Given the description of an element on the screen output the (x, y) to click on. 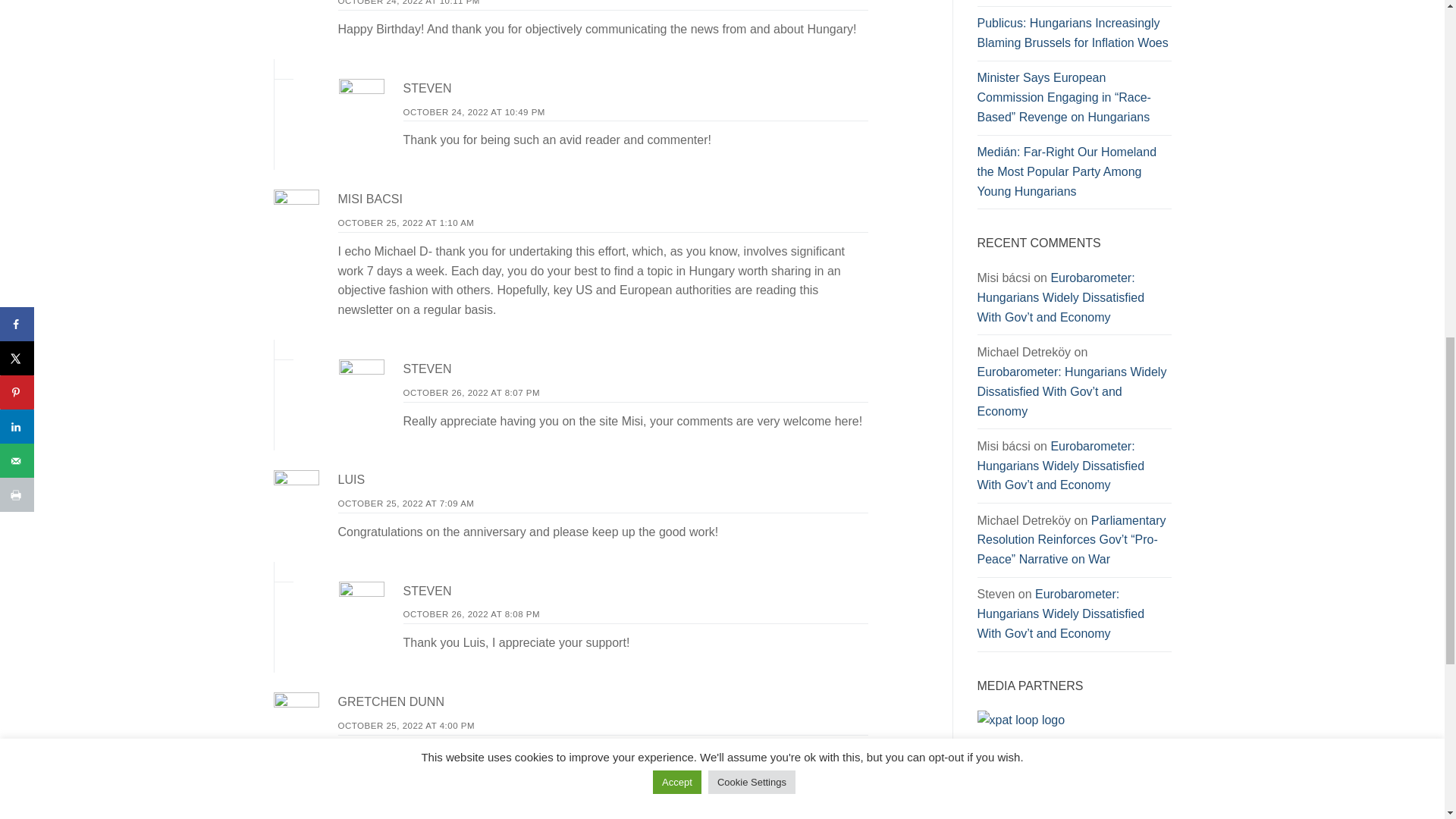
OCTOBER 24, 2022 AT 10:11 PM (408, 2)
OCTOBER 24, 2022 AT 10:49 PM (473, 112)
